Given the description of an element on the screen output the (x, y) to click on. 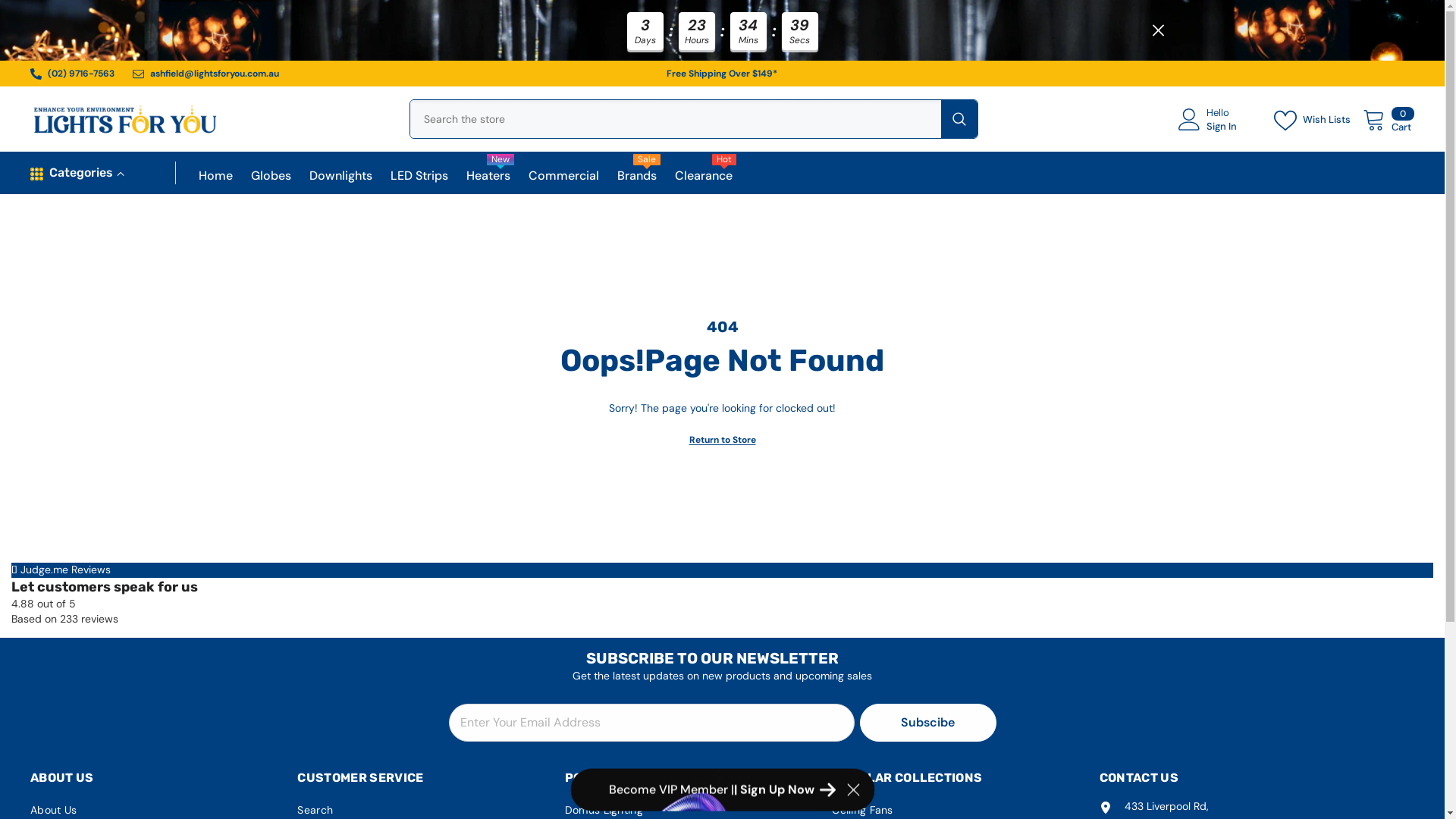
(02) 9716-7563 Element type: text (80, 73)
Heaters
New Element type: text (488, 181)
Free Shipping Over $149* Element type: text (721, 73)
Hello
Sign In Element type: text (1218, 122)
4.88 out of 5
Based on 233 reviews Element type: text (722, 610)
Return to Store Element type: text (721, 439)
Brands
Sale Element type: text (636, 181)
Subscibe Element type: text (927, 722)
Wish Lists Element type: text (1316, 121)
Globes Element type: text (270, 181)
Commercial Element type: text (563, 181)
LED Strips Element type: text (419, 181)
Close Element type: text (1157, 30)
Clearance
Hot Element type: text (703, 181)
| Sign Up Now Element type: text (784, 789)
Downlights Element type: text (340, 181)
Home Element type: text (215, 181)
0
0 items
Cart Element type: text (1388, 121)
ashfield@lightsforyou.com.au Element type: text (214, 73)
